Given the description of an element on the screen output the (x, y) to click on. 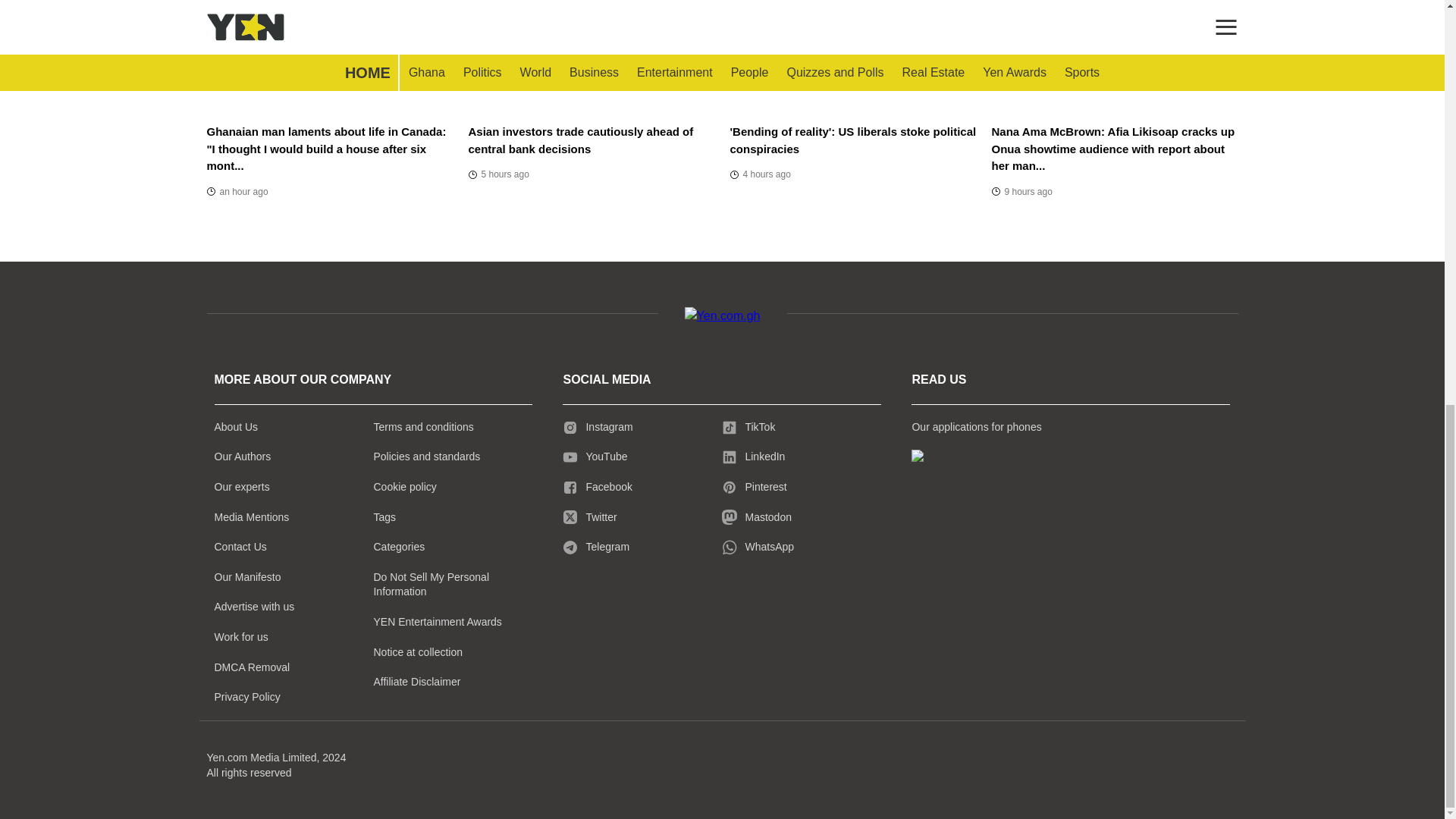
2024-07-30T02:50:10Z (498, 174)
2024-07-29T22:07:20Z (1021, 191)
2024-07-30T03:12:03Z (759, 174)
2024-07-30T06:34:30Z (236, 191)
